Given the description of an element on the screen output the (x, y) to click on. 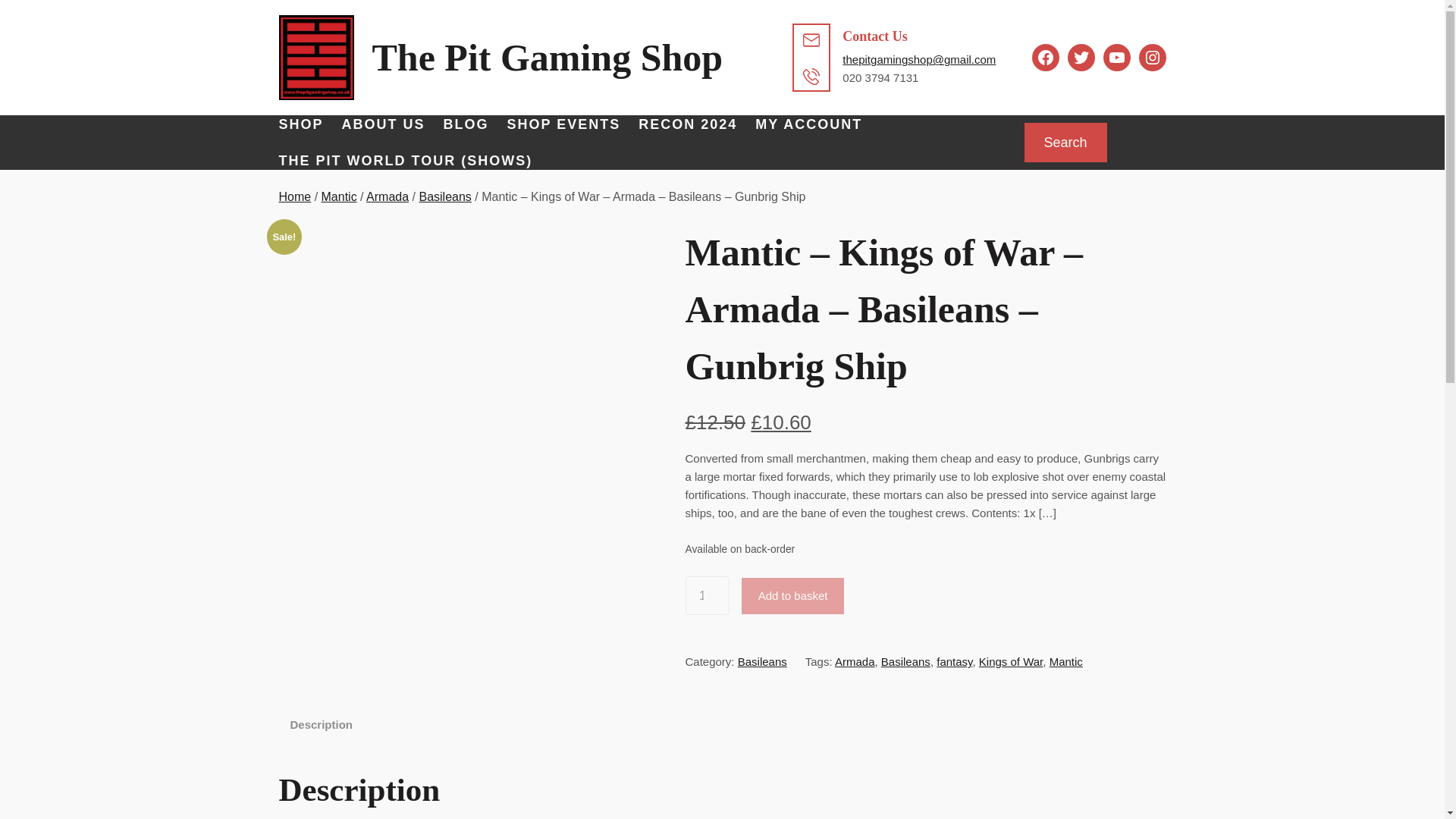
Add to basket (792, 596)
Basileans (444, 196)
SHOP (301, 124)
YouTube (1117, 57)
Basileans (905, 661)
Description (320, 725)
Home (295, 196)
BLOG (466, 124)
Search (1065, 142)
Facebook (1045, 57)
